Given the description of an element on the screen output the (x, y) to click on. 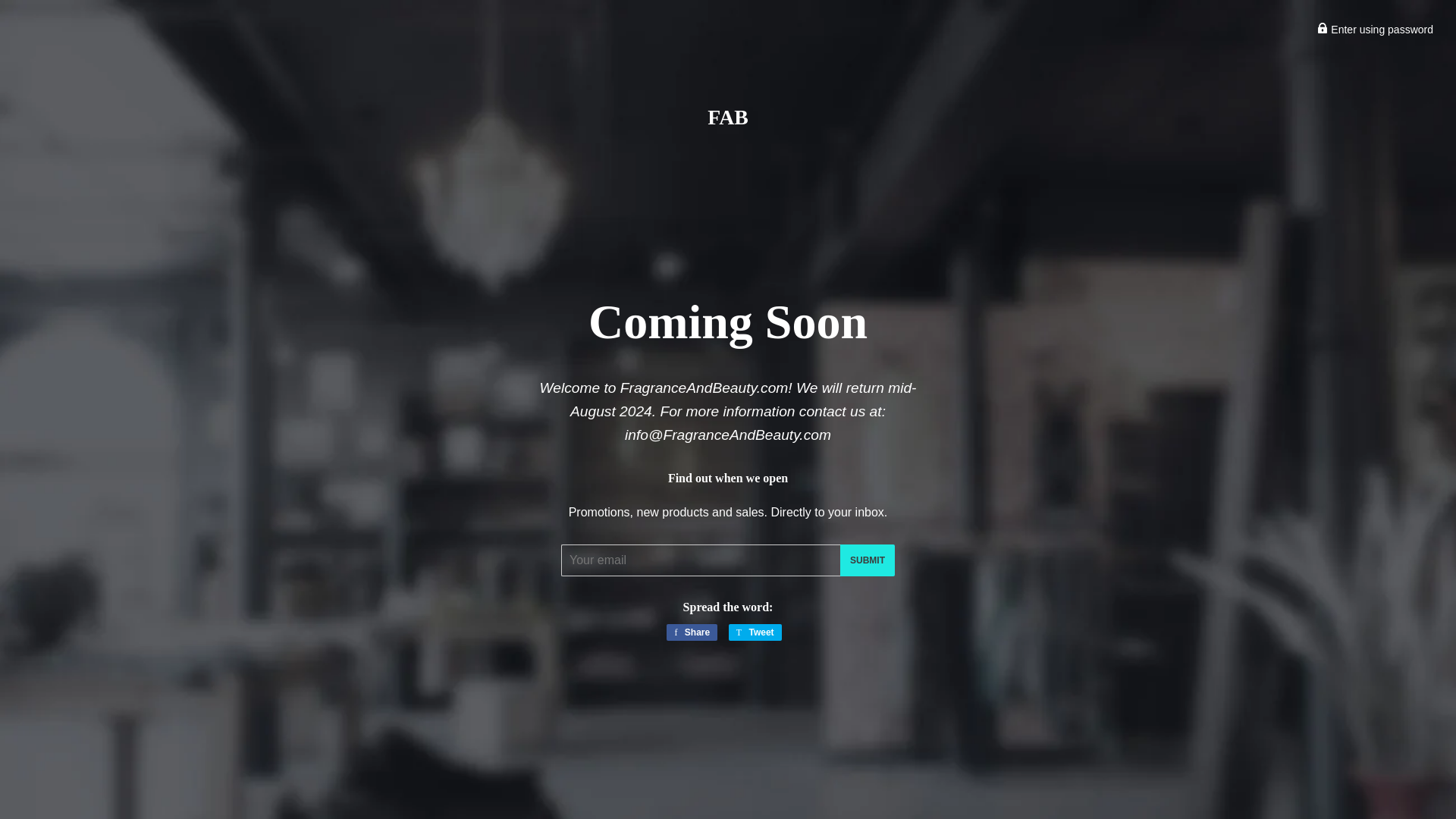
Tweet on Twitter (755, 632)
Share on Facebook (691, 632)
Submit (867, 560)
Lock icon Enter using password (755, 632)
Submit (1374, 29)
Lock icon (691, 632)
